Given the description of an element on the screen output the (x, y) to click on. 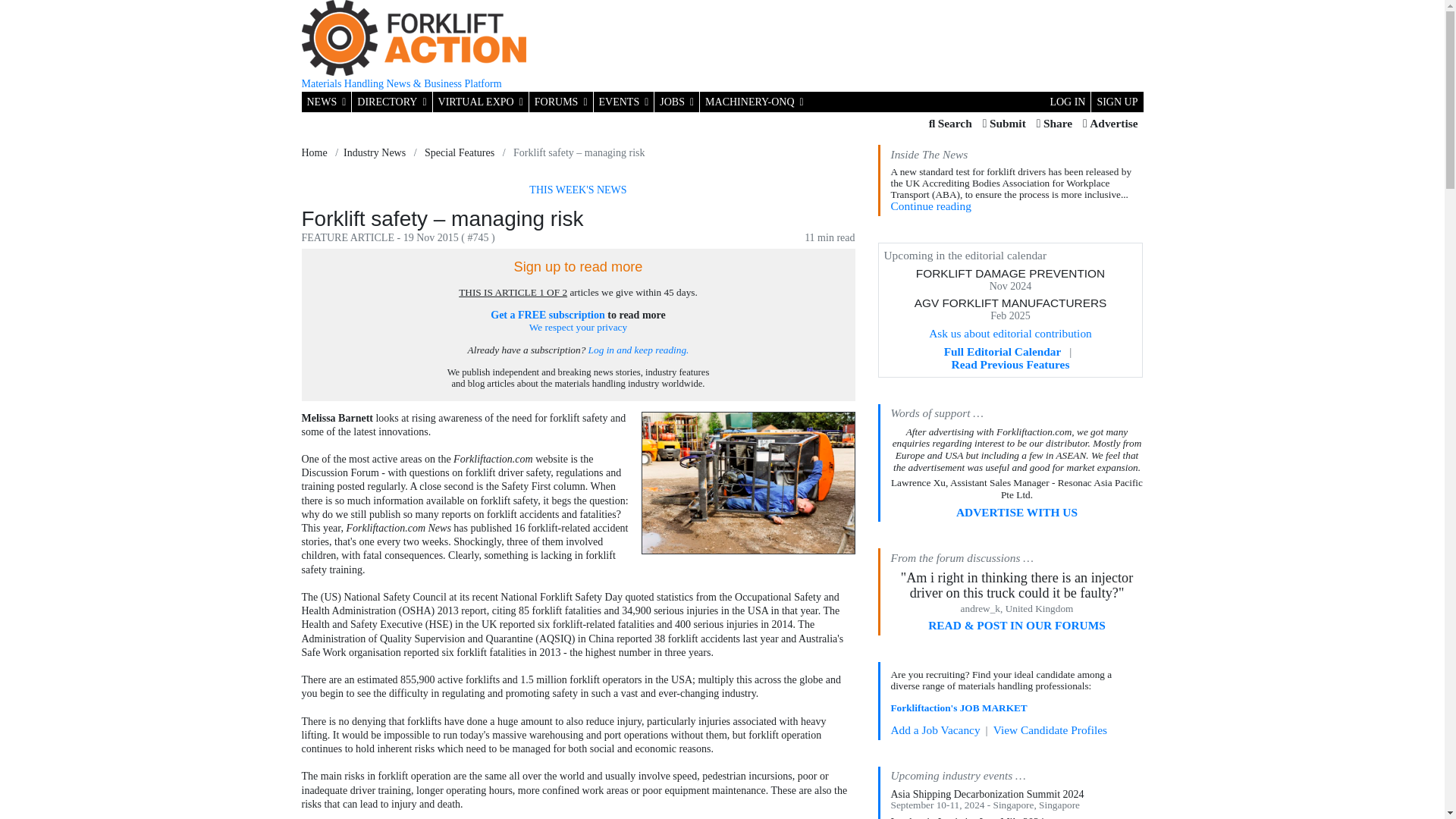
Submit your content (1003, 124)
NEWS (326, 101)
FORUMS (560, 101)
DIRECTORY (391, 101)
Share this page (1053, 124)
VIRTUAL EXPO (480, 101)
